Given the description of an element on the screen output the (x, y) to click on. 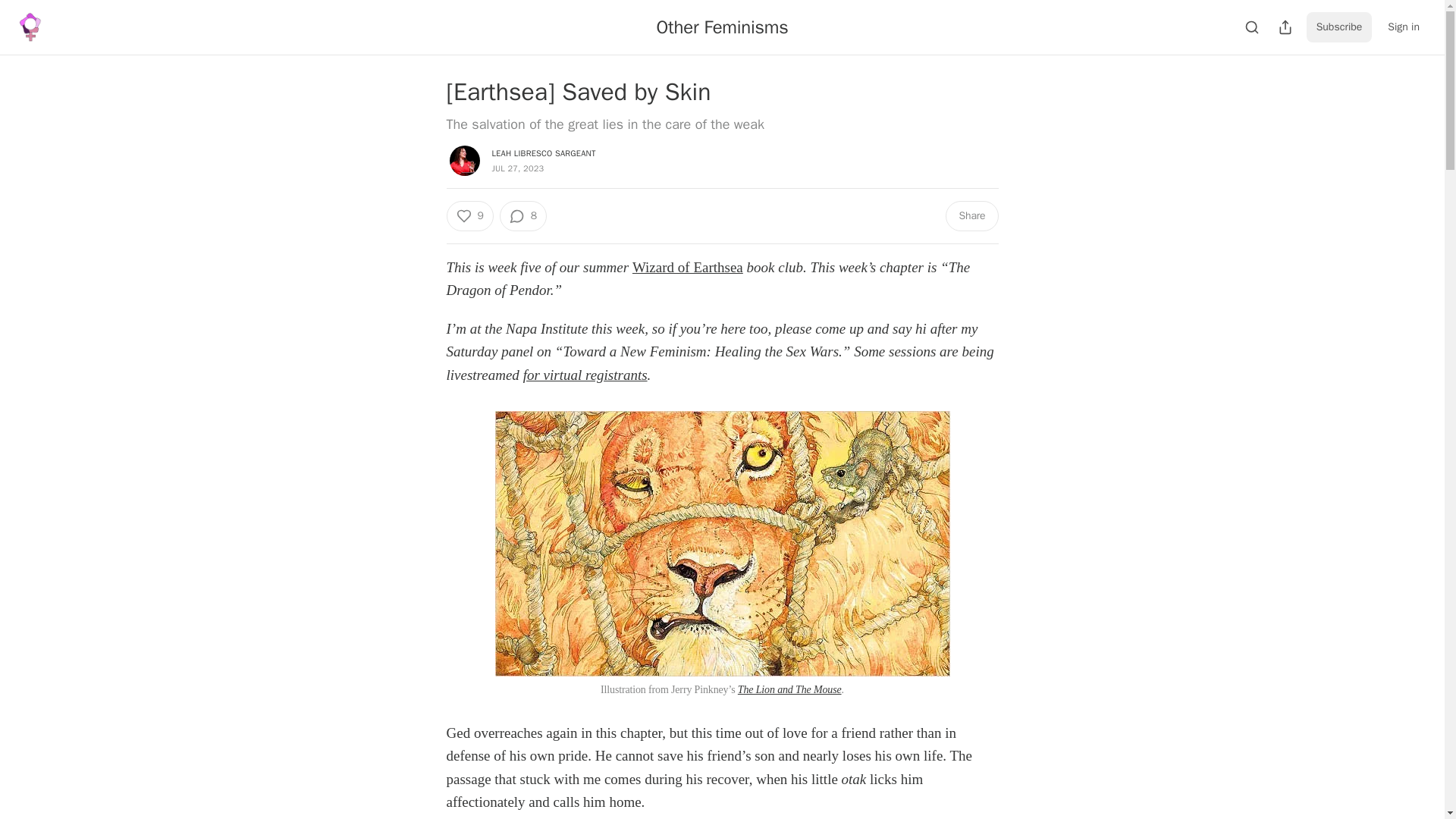
Sign in (1403, 27)
9 (469, 215)
Share (970, 215)
Subscribe (1339, 27)
LEAH LIBRESCO SARGEANT (543, 153)
The Lion and The Mouse (789, 689)
Other Feminisms (722, 26)
Wizard of Earthsea (686, 267)
8 (523, 215)
for virtual registrants (584, 374)
